Given the description of an element on the screen output the (x, y) to click on. 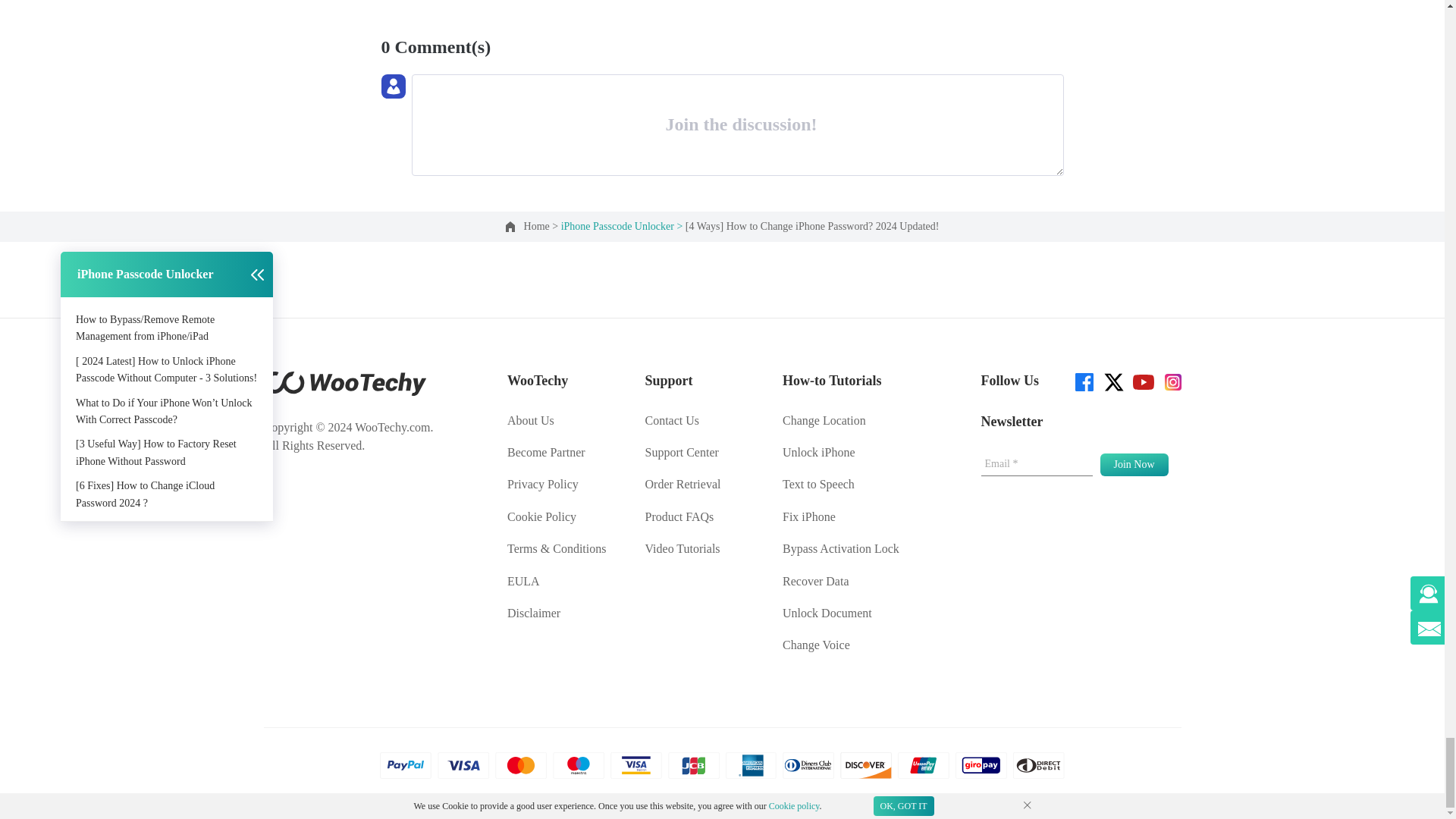
Join Now (1133, 464)
